Given the description of an element on the screen output the (x, y) to click on. 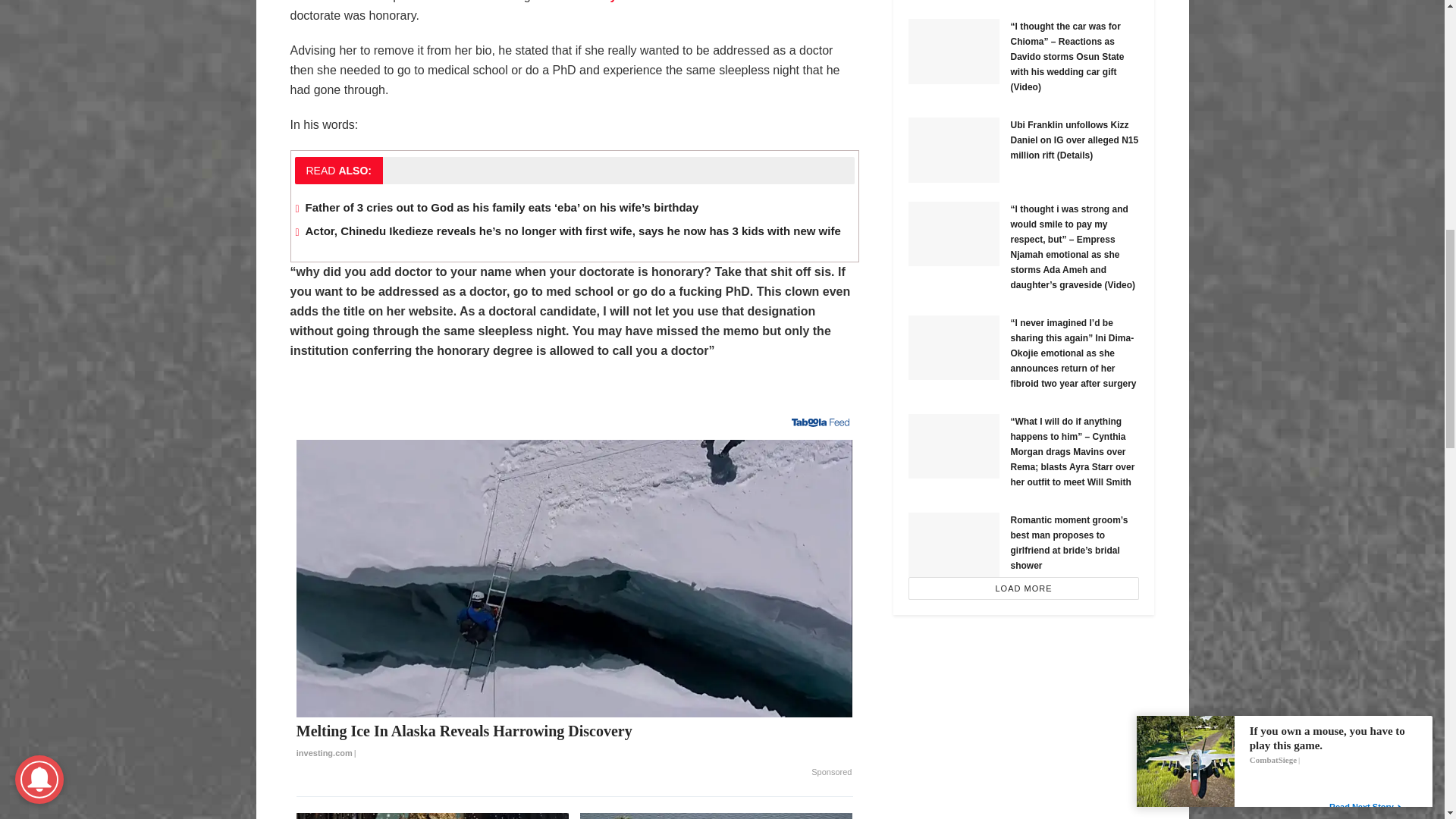
Melting Ice In Alaska Reveals Harrowing Discovery (575, 742)
